Given the description of an element on the screen output the (x, y) to click on. 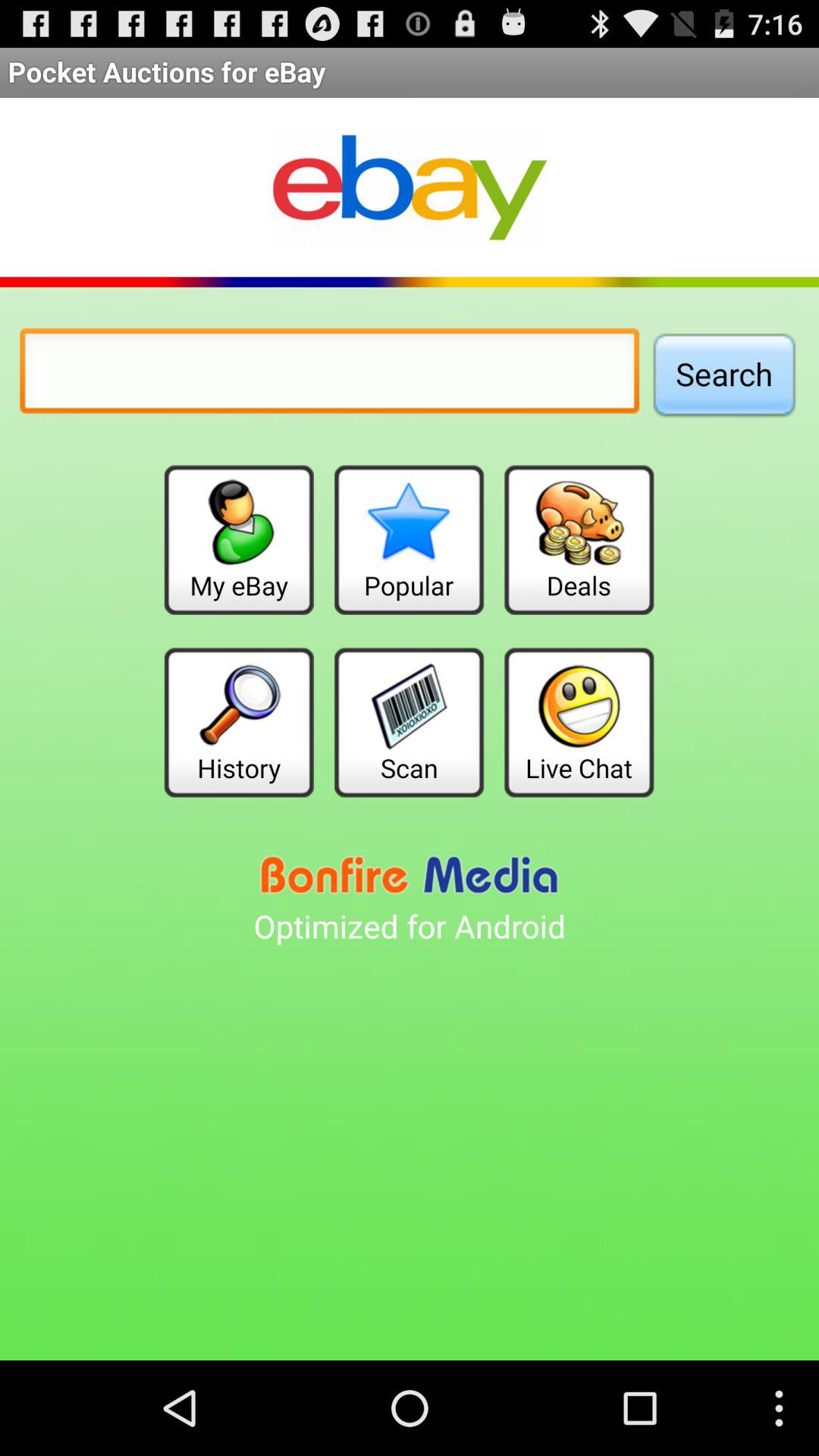
swipe until the deals icon (579, 539)
